Given the description of an element on the screen output the (x, y) to click on. 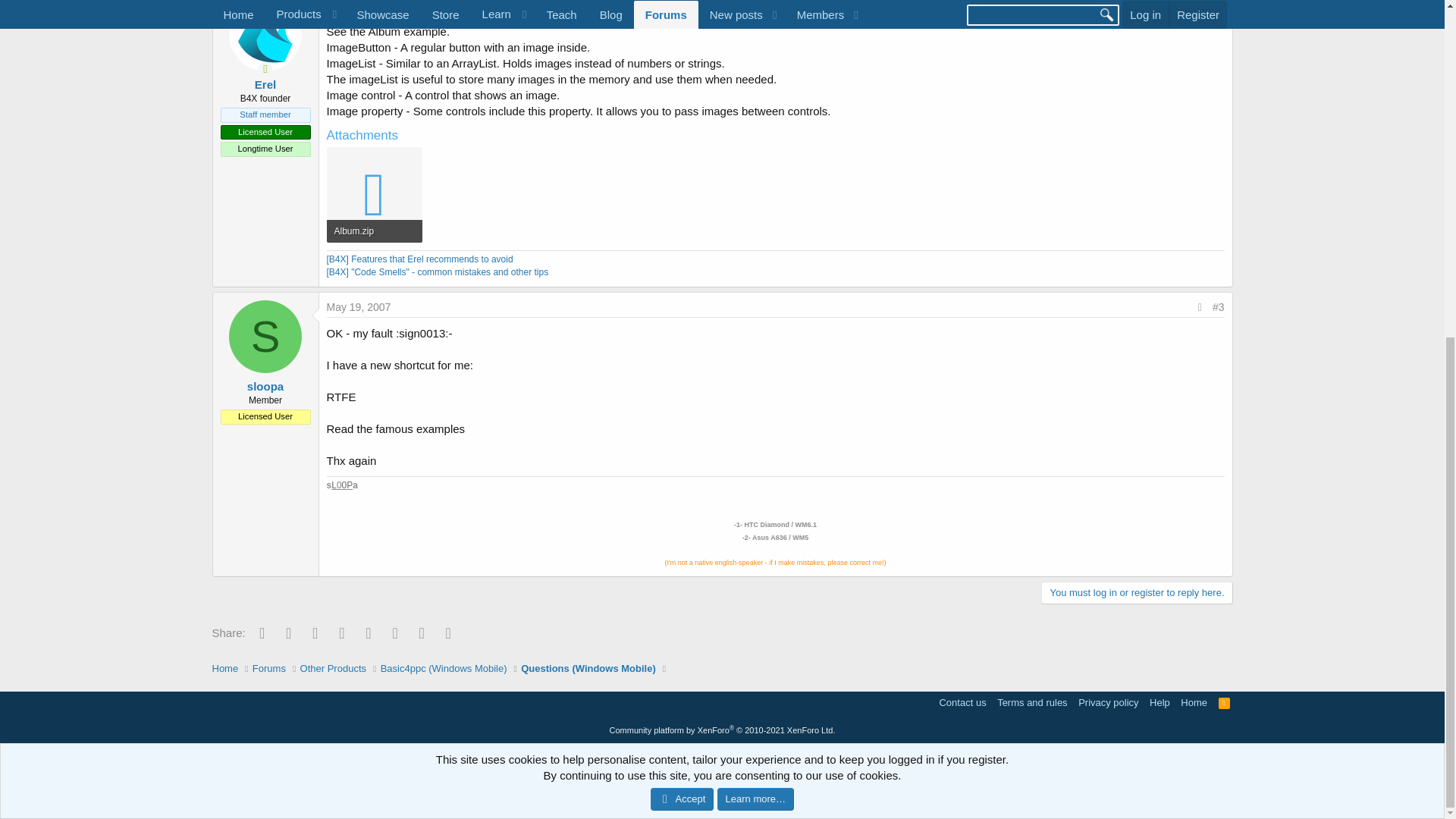
RSS (1224, 702)
May 19, 2007 at 5:00 PM (358, 306)
May 19, 2007 at 2:34 PM (358, 5)
Album.zip (373, 231)
